Given the description of an element on the screen output the (x, y) to click on. 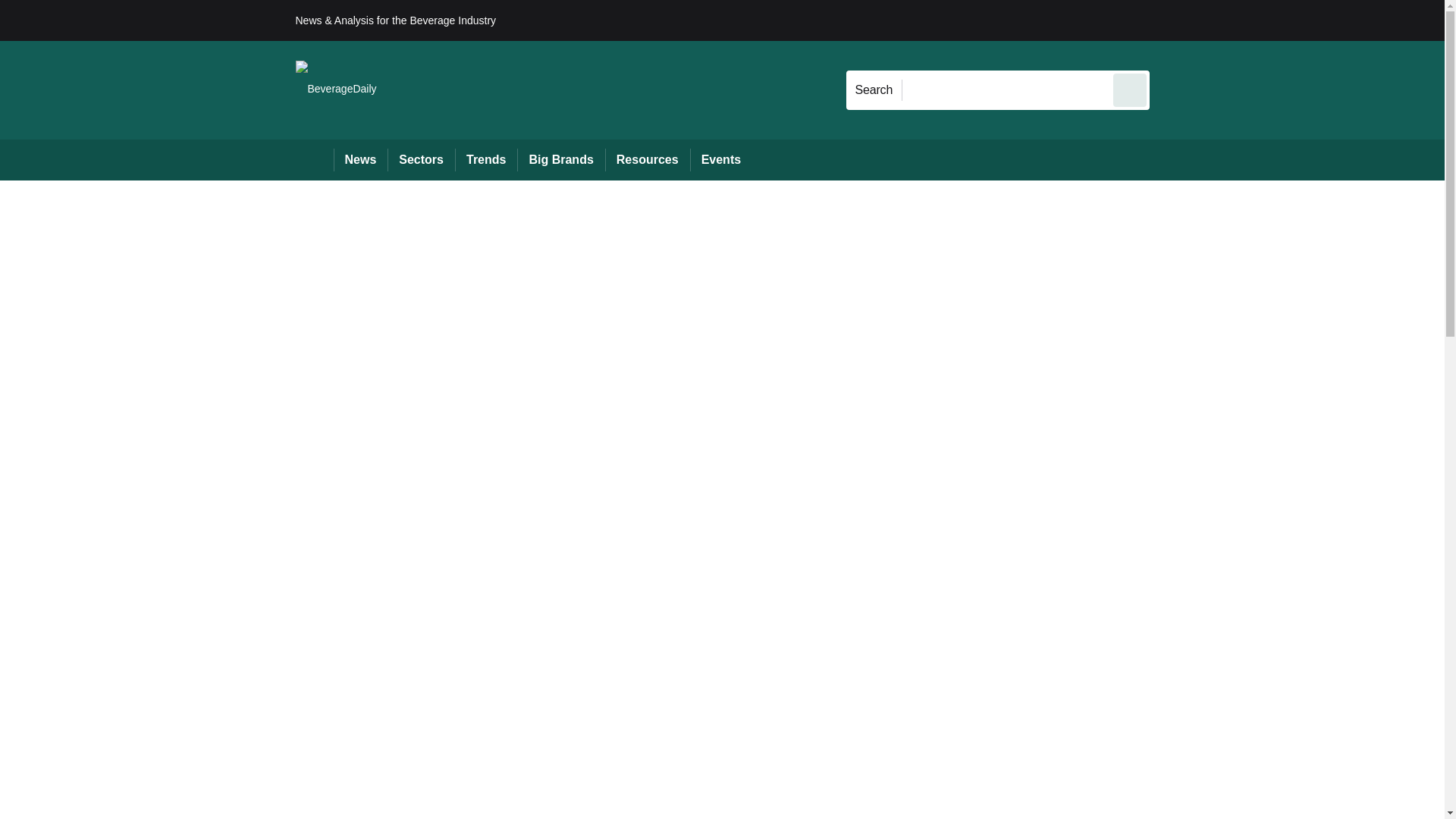
Sign in (1171, 20)
My account (1256, 20)
Sign out (1174, 20)
Trends (485, 159)
Send (1129, 90)
BeverageDaily (336, 89)
REGISTER (1250, 20)
Home (313, 159)
Sectors (420, 159)
Send (1129, 89)
News (360, 159)
Home (314, 159)
